Given the description of an element on the screen output the (x, y) to click on. 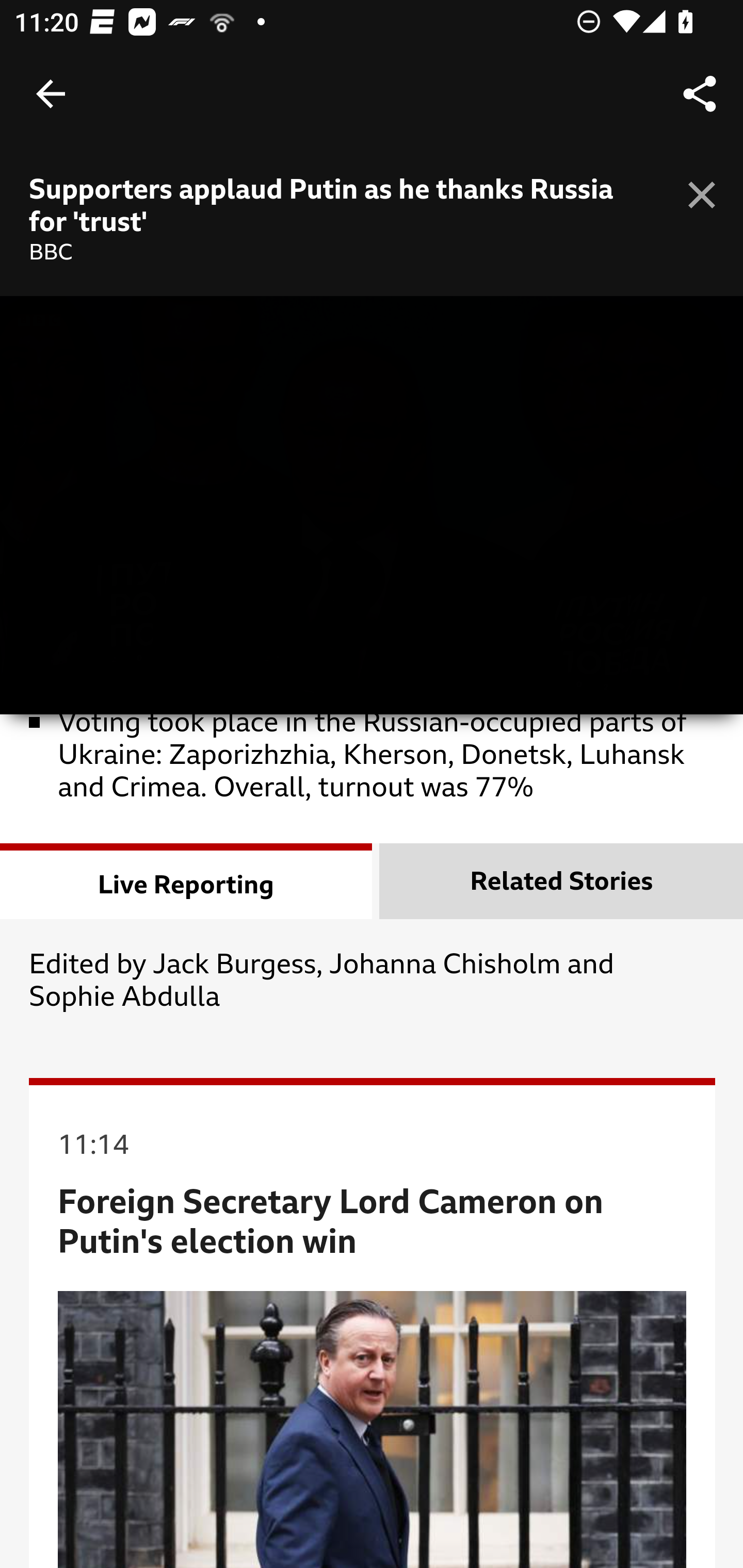
Back (50, 93)
Share (699, 93)
Live Reporting (186, 881)
Related Stories (560, 881)
